Given the description of an element on the screen output the (x, y) to click on. 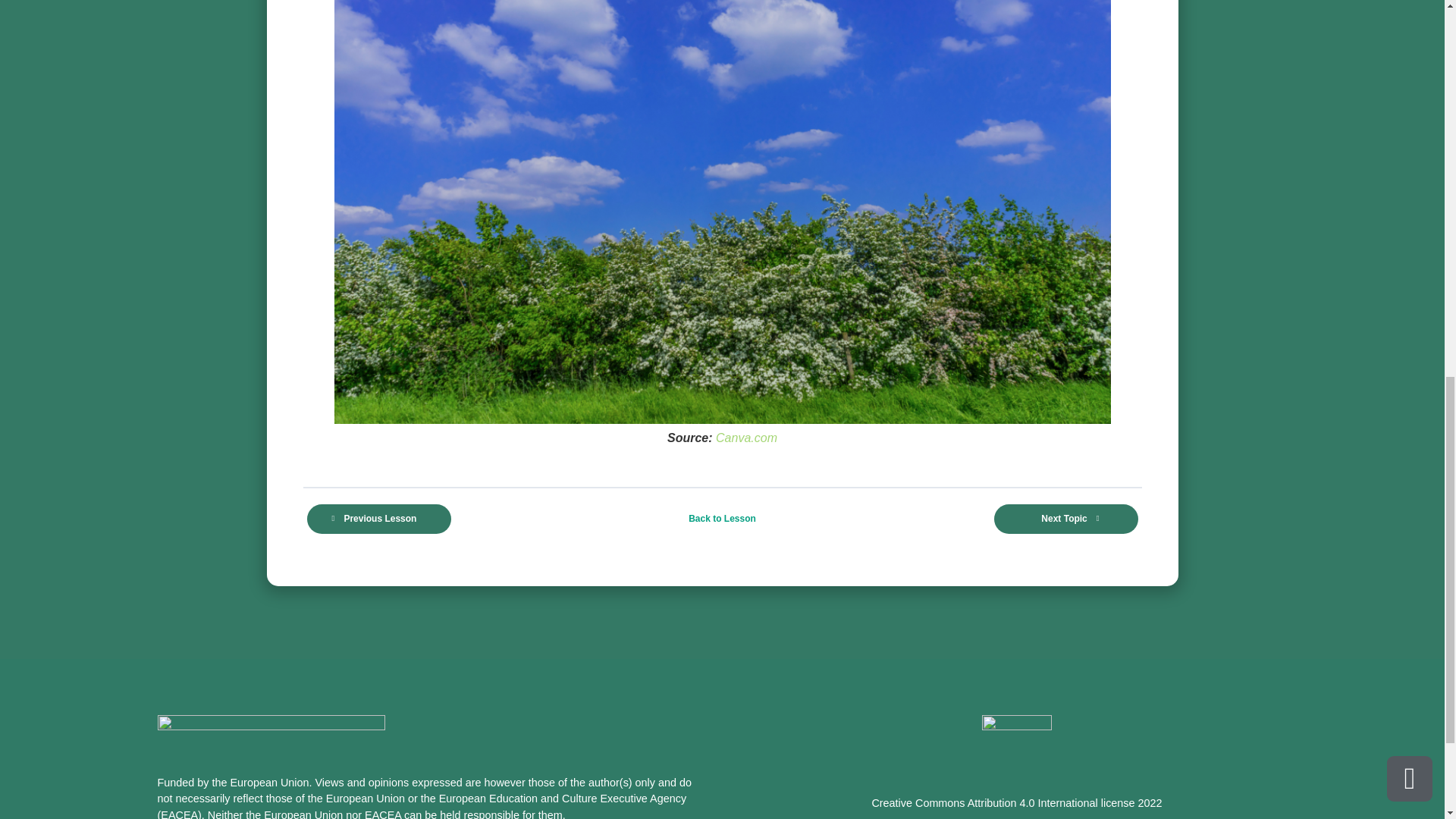
Back to Lesson (722, 518)
Next Topic (1064, 518)
Previous Lesson (377, 518)
Canva.com (746, 437)
